Given the description of an element on the screen output the (x, y) to click on. 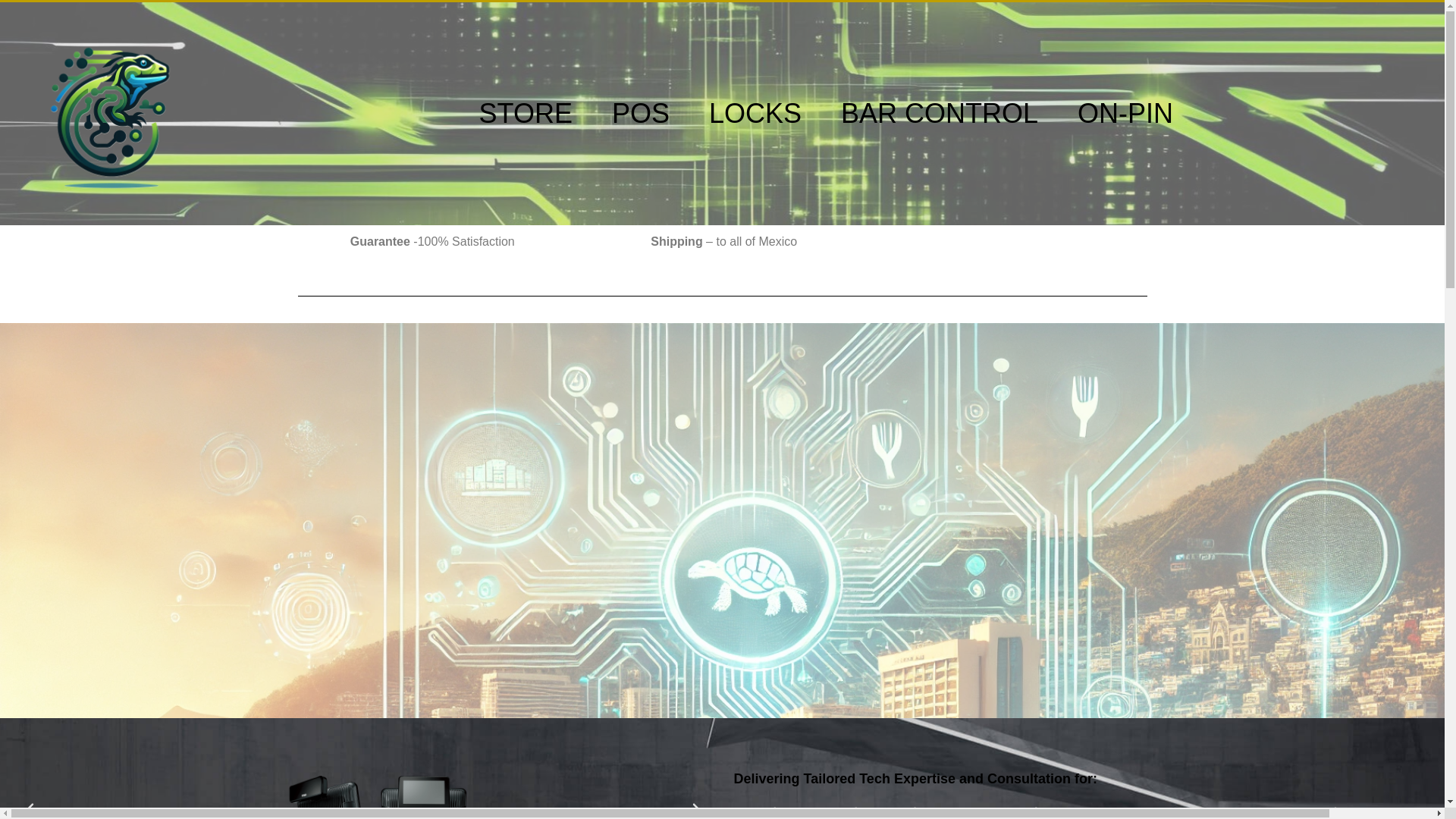
BAR CONTROL (939, 113)
STORE (525, 113)
ON-PIN (1125, 113)
POS (640, 113)
LOCKS (755, 113)
